Given the description of an element on the screen output the (x, y) to click on. 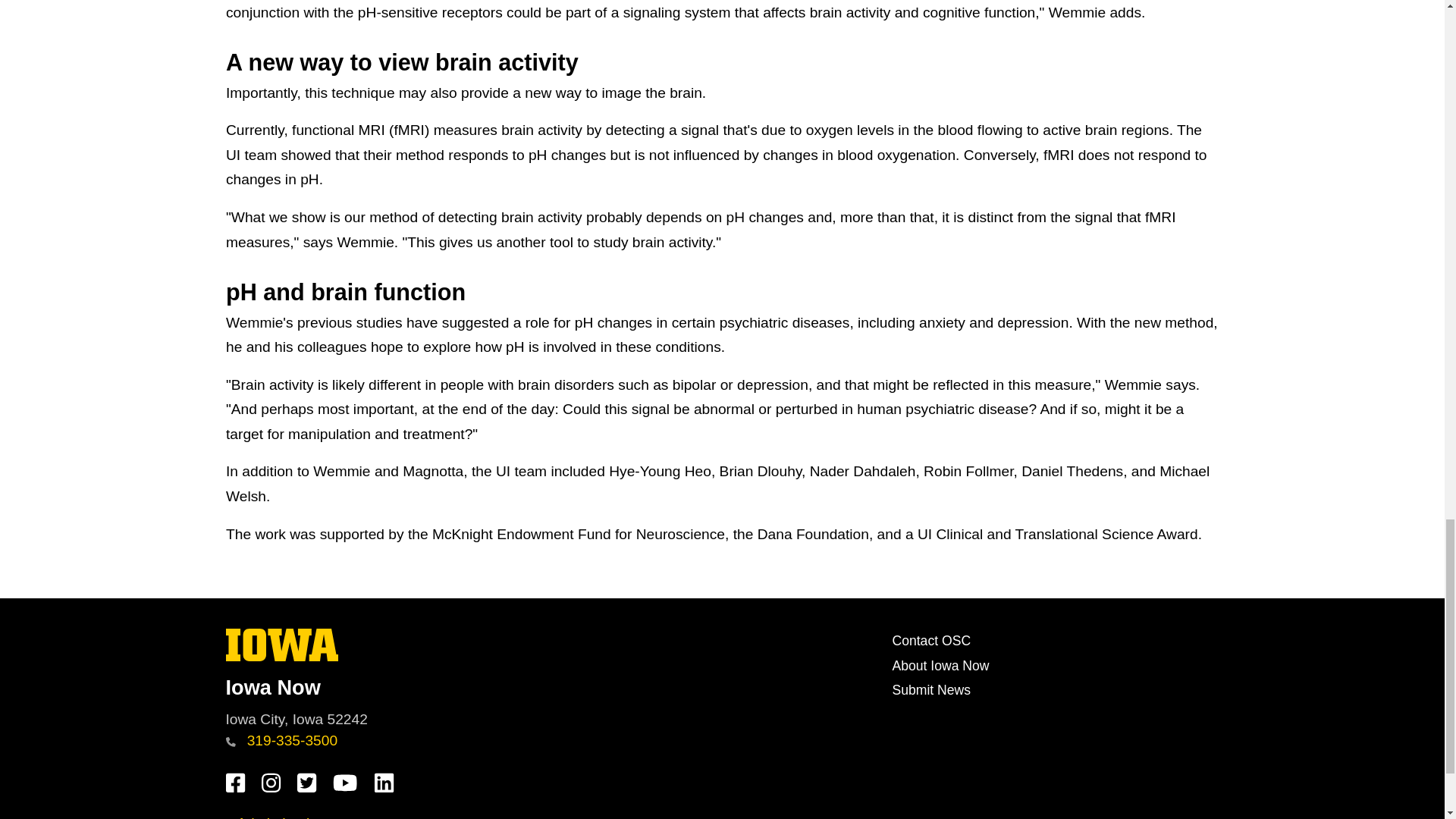
Iowa Now (282, 656)
University of Iowa (552, 687)
319-335-3500 (282, 644)
Contact OSC (281, 740)
About Iowa Now (931, 640)
Admin Login (939, 665)
Submit News (271, 816)
